Given the description of an element on the screen output the (x, y) to click on. 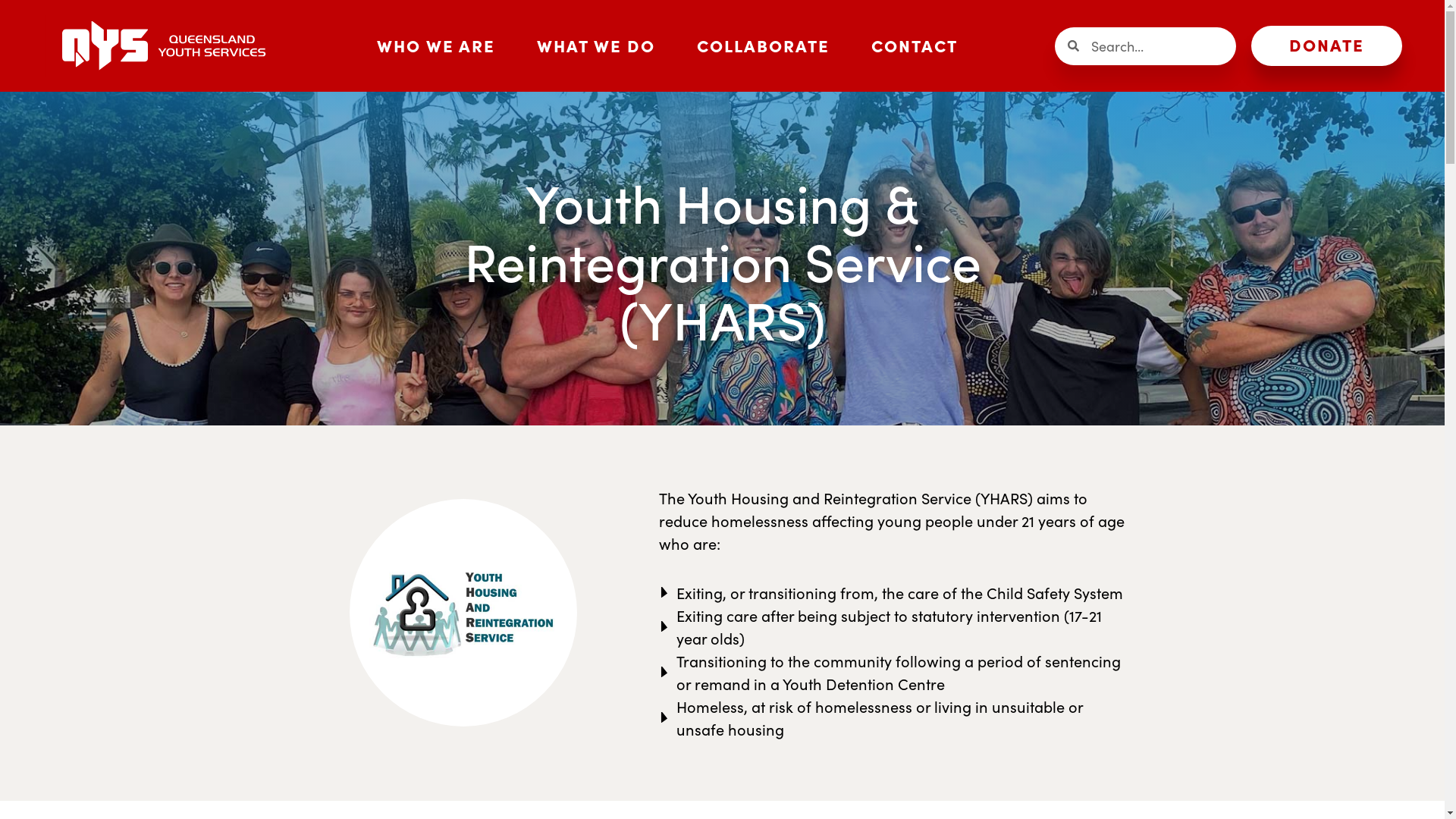
COLLABORATE Element type: text (763, 45)
WHAT WE DO Element type: text (595, 45)
Return to Queensland Youth Services home page Element type: hover (162, 45)
DONATE Element type: text (1326, 45)
CONTACT Element type: text (914, 45)
WHO WE ARE Element type: text (435, 45)
